Given the description of an element on the screen output the (x, y) to click on. 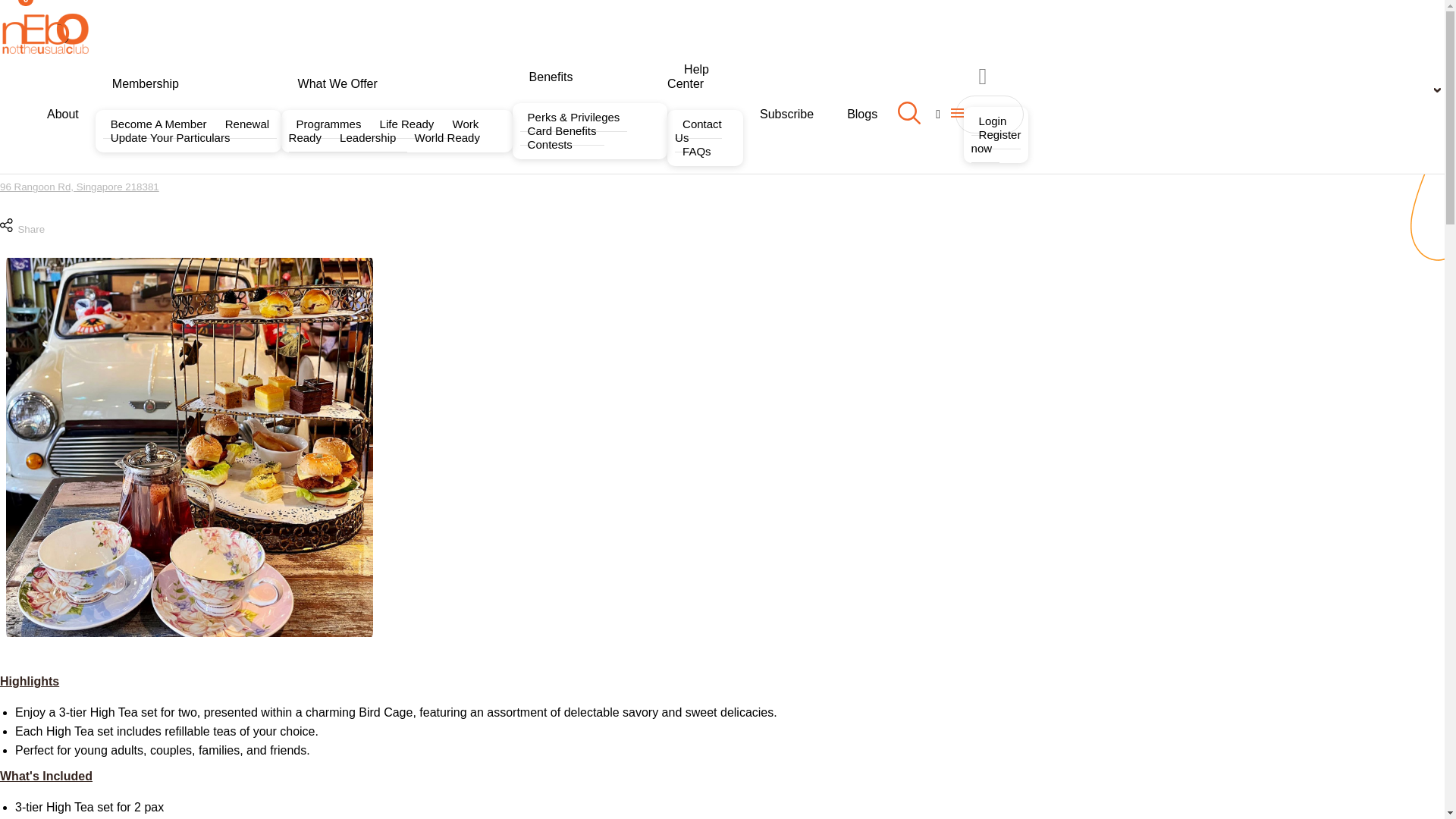
Subscribe (785, 113)
Blogs (861, 113)
Card Benefits (561, 131)
Contests (549, 144)
World Ready (447, 137)
FAQs (697, 151)
Update Your Particulars (170, 137)
Work Ready (383, 130)
What We Offer (337, 83)
Contact Us (698, 130)
Become A Member (159, 123)
Programmes (330, 123)
Life Ready (408, 123)
Membership (145, 83)
About (63, 113)
